Given the description of an element on the screen output the (x, y) to click on. 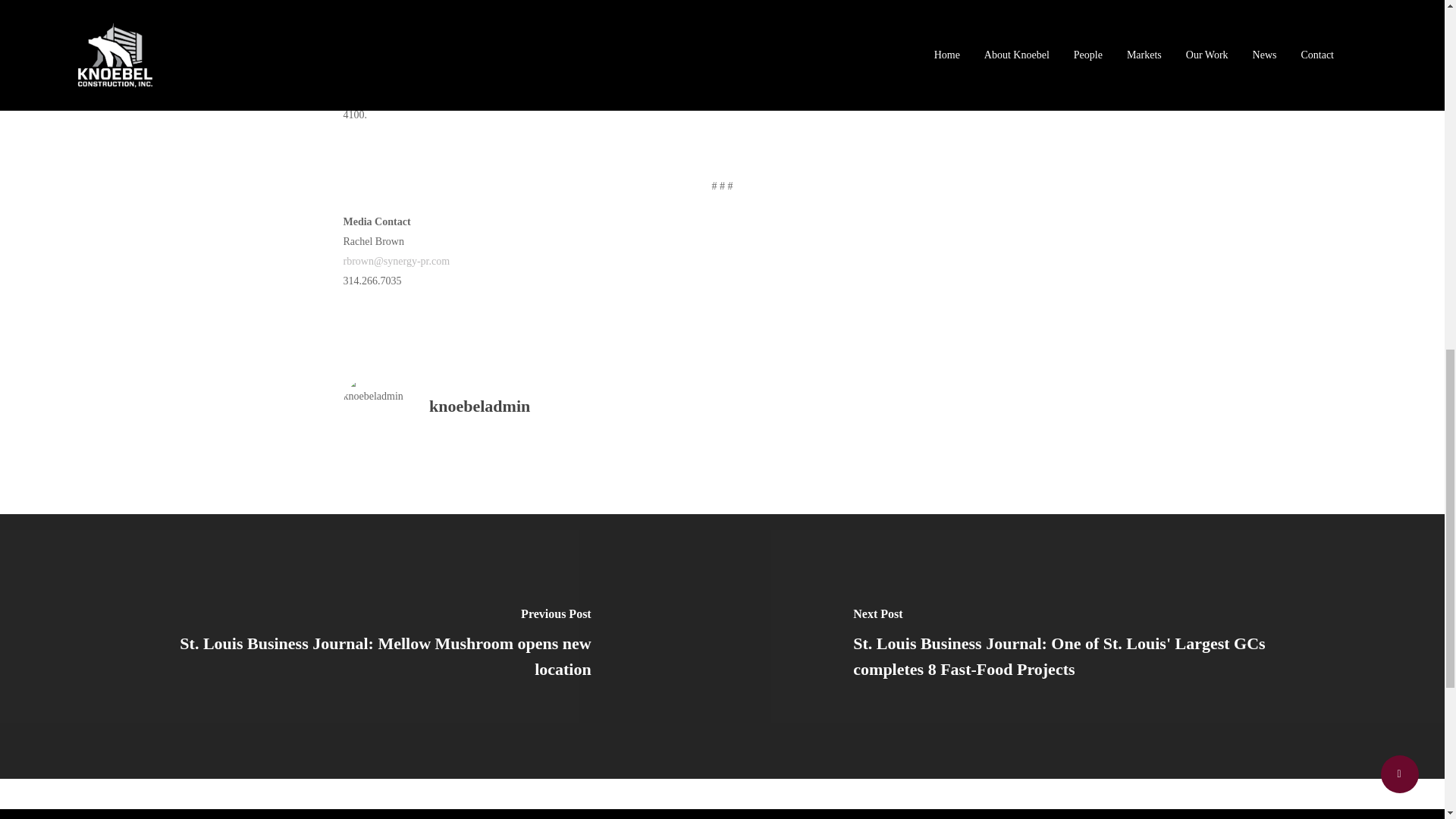
knoebeladmin (479, 405)
www.knoebelconstruction.com (948, 94)
